Given the description of an element on the screen output the (x, y) to click on. 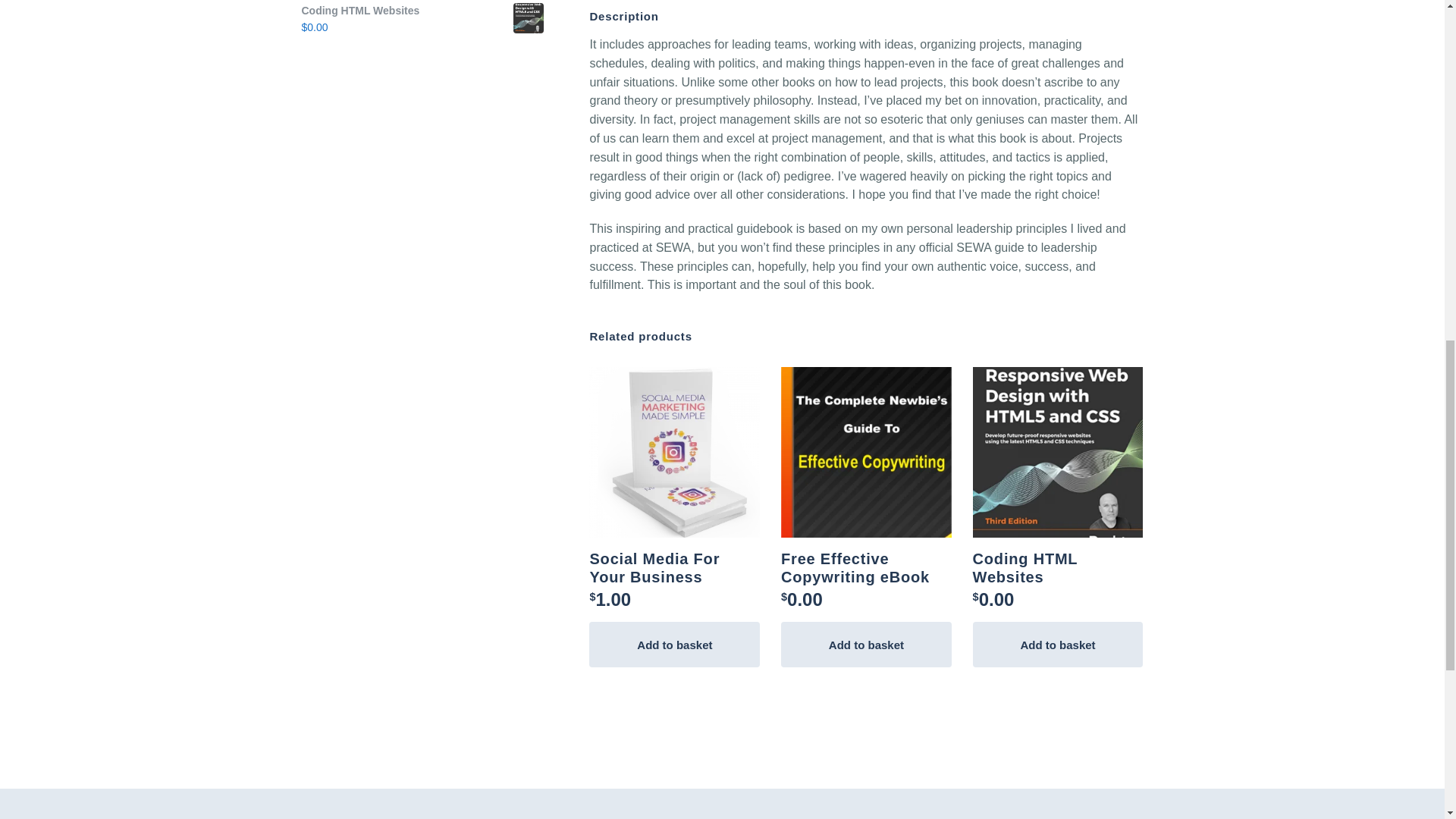
Add to basket (1057, 644)
Add to basket (674, 644)
Add to basket (866, 644)
